Given the description of an element on the screen output the (x, y) to click on. 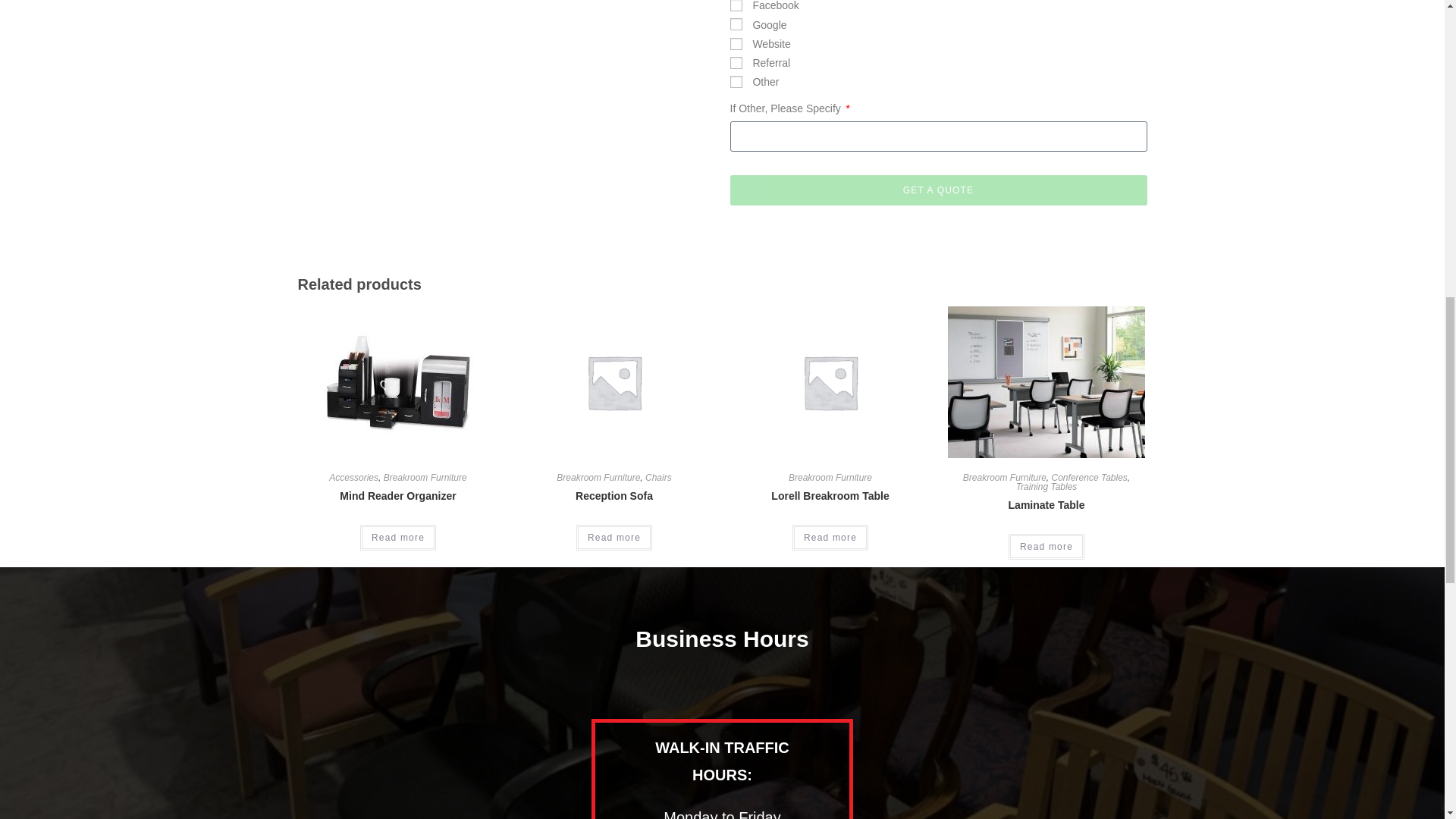
Other (735, 81)
Website (735, 43)
Referral (735, 62)
Facebook (735, 5)
Google (735, 24)
